Given the description of an element on the screen output the (x, y) to click on. 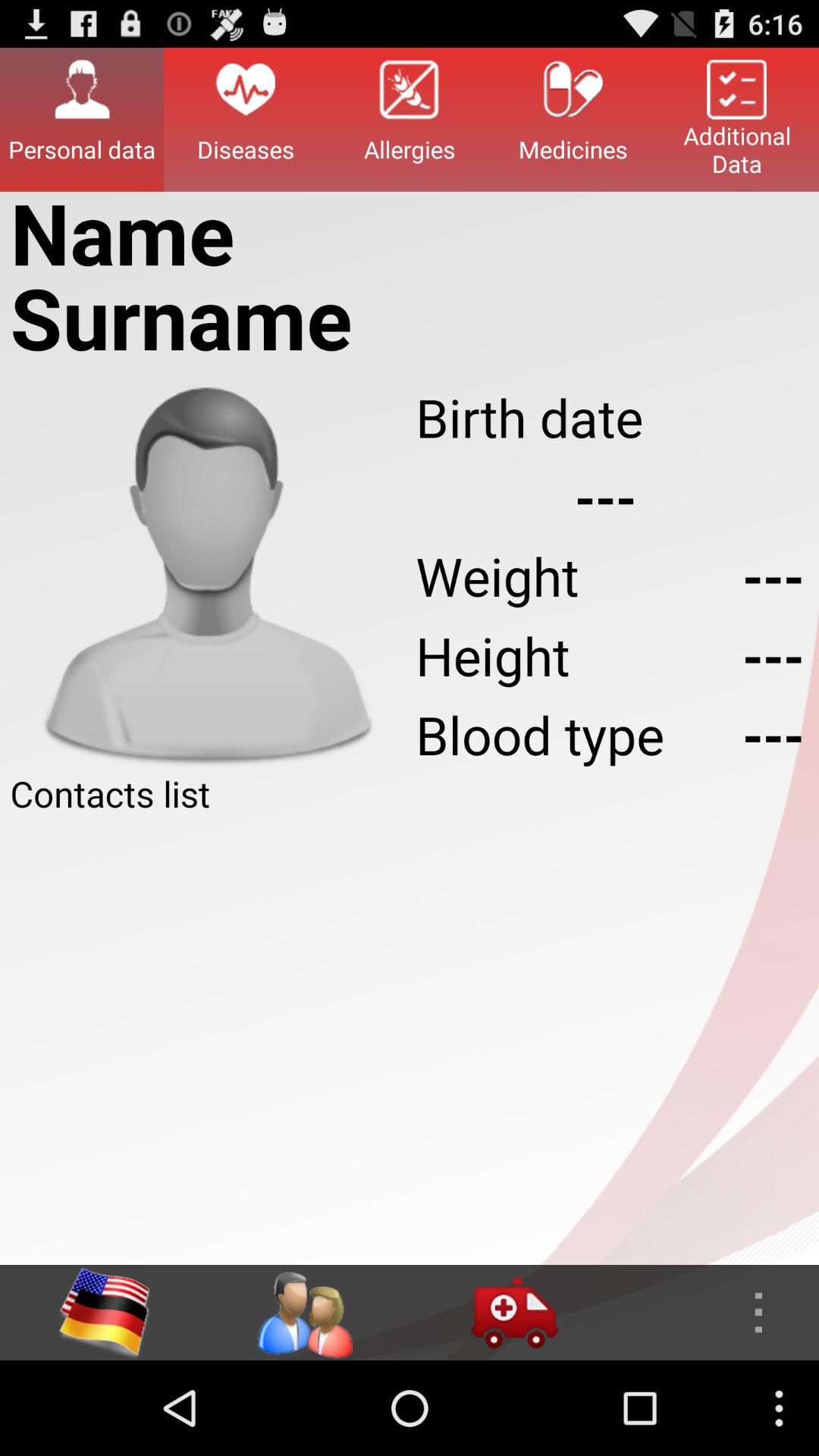
contacts names savings (409, 1041)
